Given the description of an element on the screen output the (x, y) to click on. 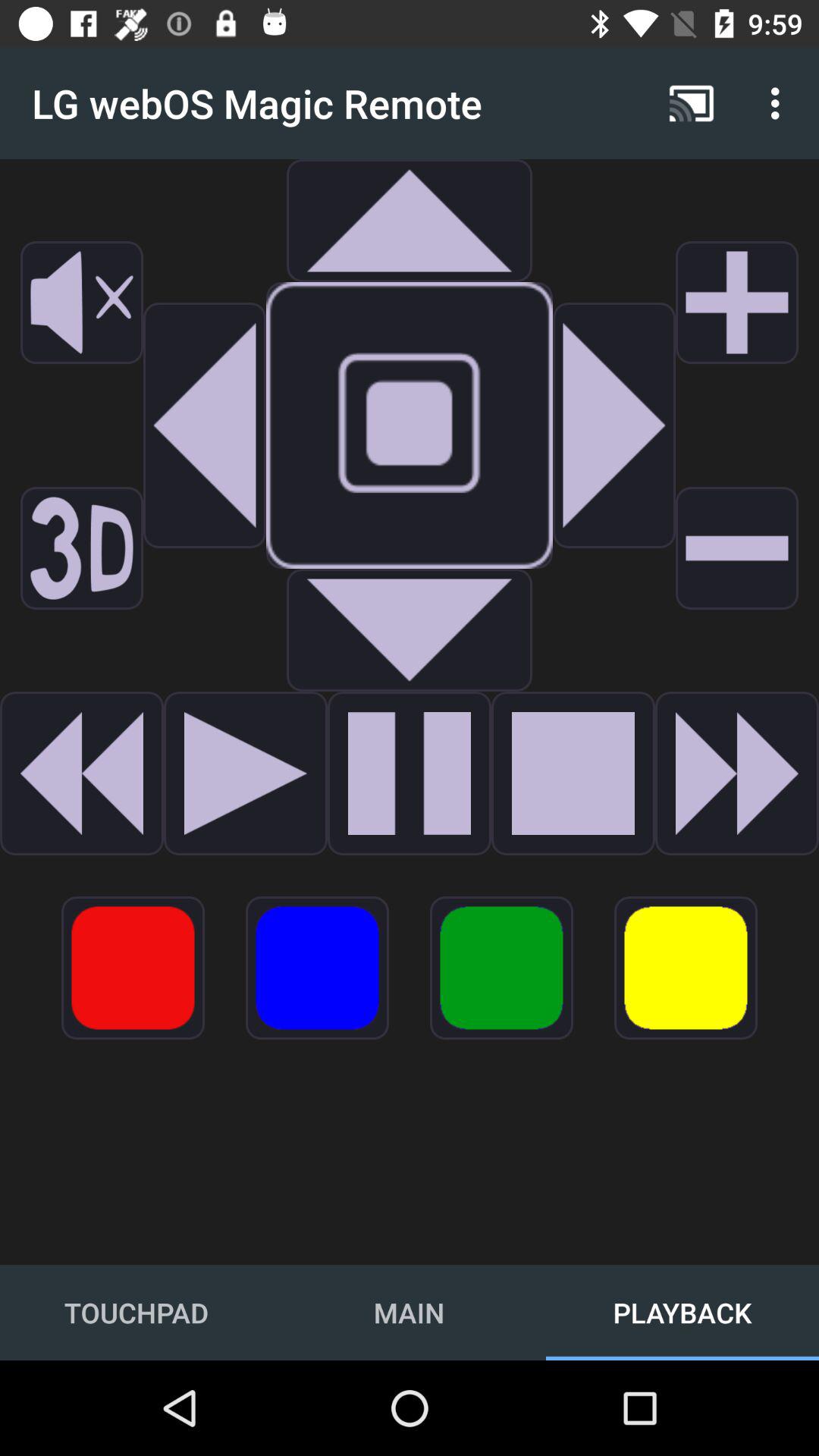
press to stop (573, 773)
